Given the description of an element on the screen output the (x, y) to click on. 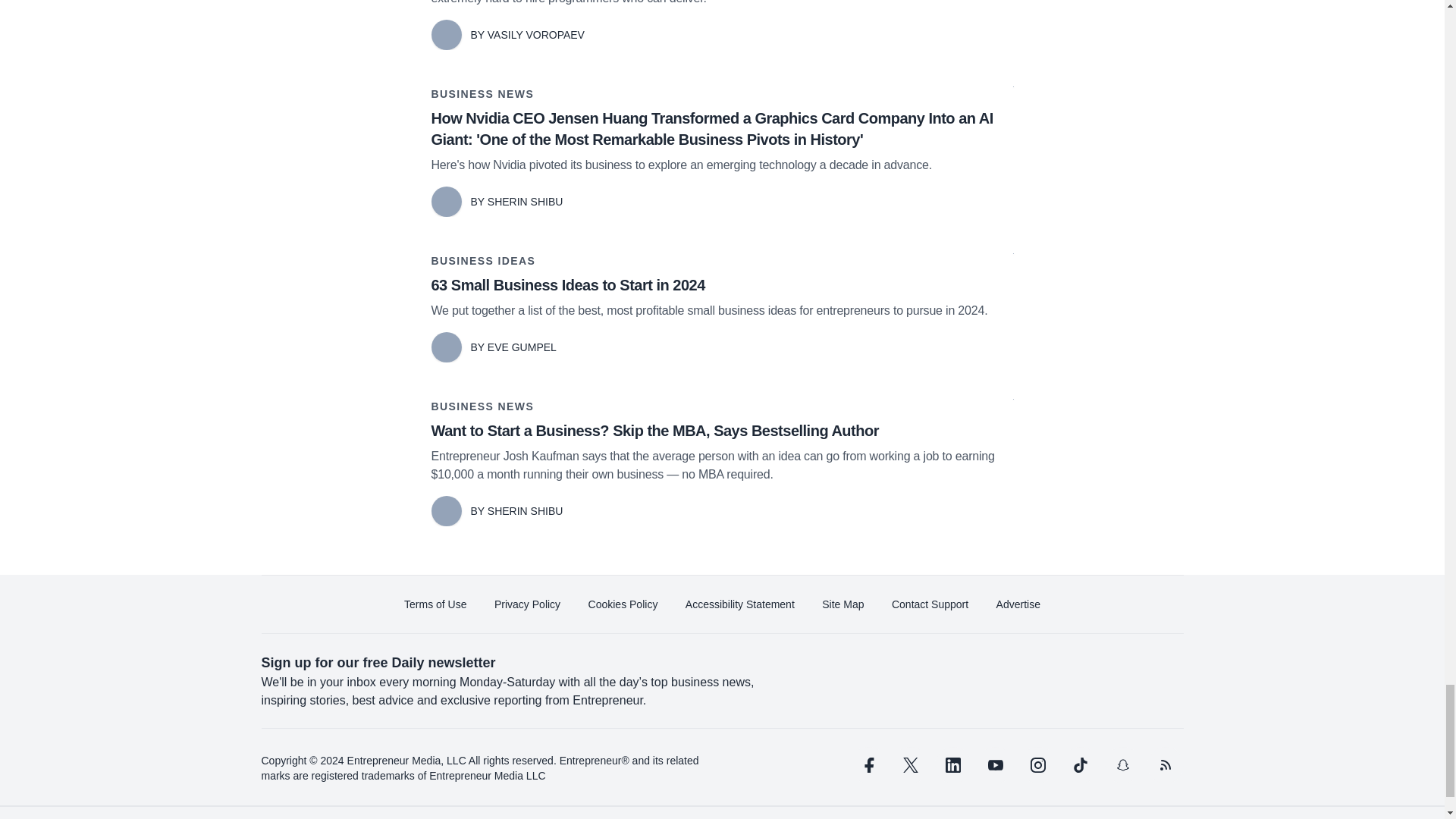
linkedin (952, 764)
twitter (909, 764)
snapchat (1121, 764)
tiktok (1079, 764)
facebook (866, 764)
youtube (994, 764)
instagram (1037, 764)
